Given the description of an element on the screen output the (x, y) to click on. 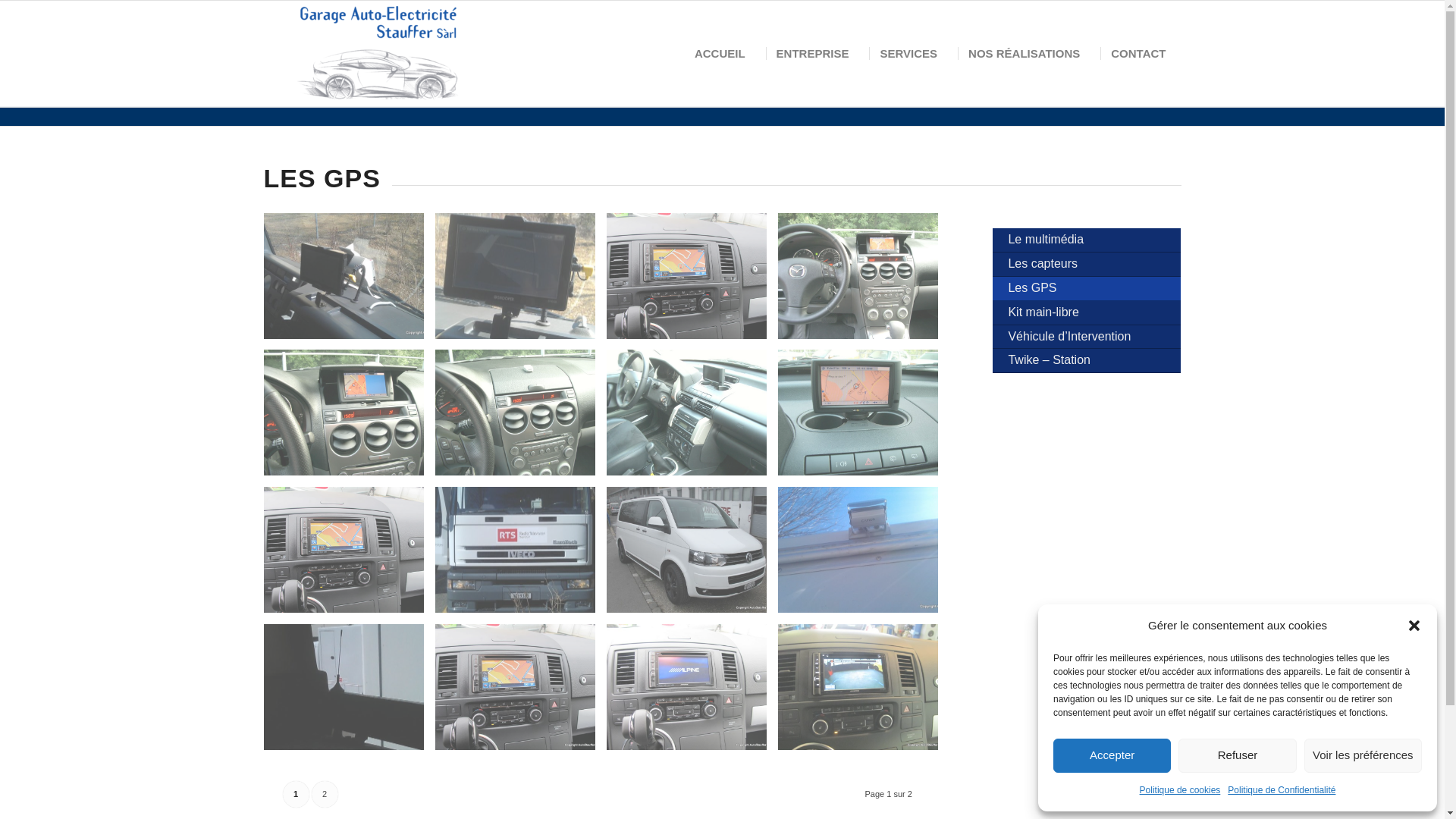
ACCUEIL Element type: text (719, 53)
Les capteurs Element type: text (1086, 264)
Les GPS Element type: text (1086, 288)
ENTREPRISE Element type: text (812, 53)
Refuser Element type: text (1236, 755)
Kit main-libre Element type: text (1086, 313)
2 Element type: text (323, 794)
SERVICES Element type: text (907, 53)
Politique de cookies Element type: text (1179, 790)
Accepter Element type: text (1111, 755)
CONTACT Element type: text (1137, 53)
